Given the description of an element on the screen output the (x, y) to click on. 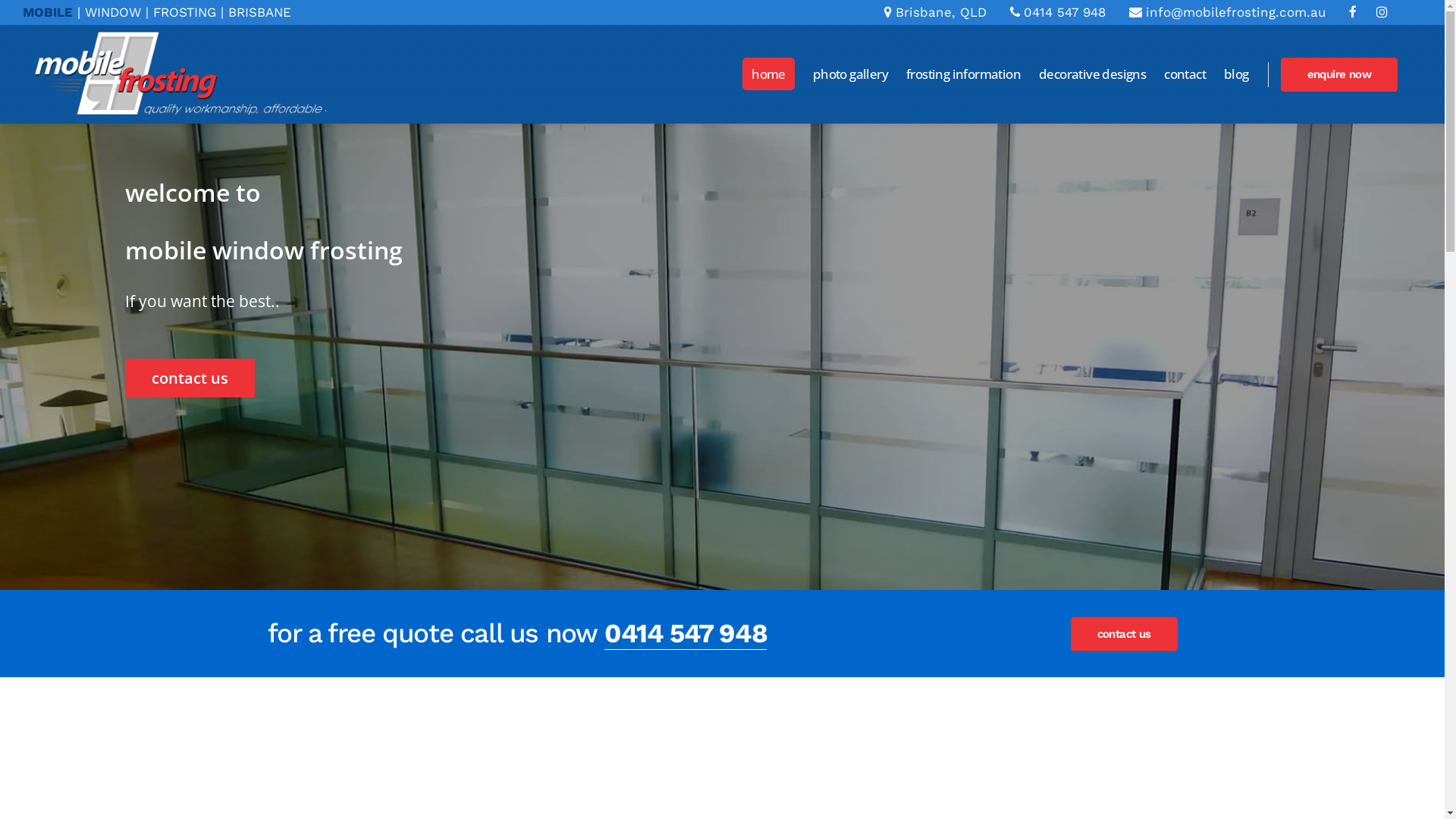
contact us Element type: text (189, 377)
contact Element type: text (1184, 73)
frosting information Element type: text (963, 73)
info@mobilefrosting.com.au Element type: text (1227, 11)
home Element type: text (768, 73)
contact us Element type: text (1123, 633)
blog Element type: text (1236, 73)
enquire now Element type: text (1338, 74)
decorative designs Element type: text (1091, 73)
0414 547 948 Element type: text (1057, 11)
0414 547 948 Element type: text (685, 633)
photo gallery Element type: text (850, 73)
